Given the description of an element on the screen output the (x, y) to click on. 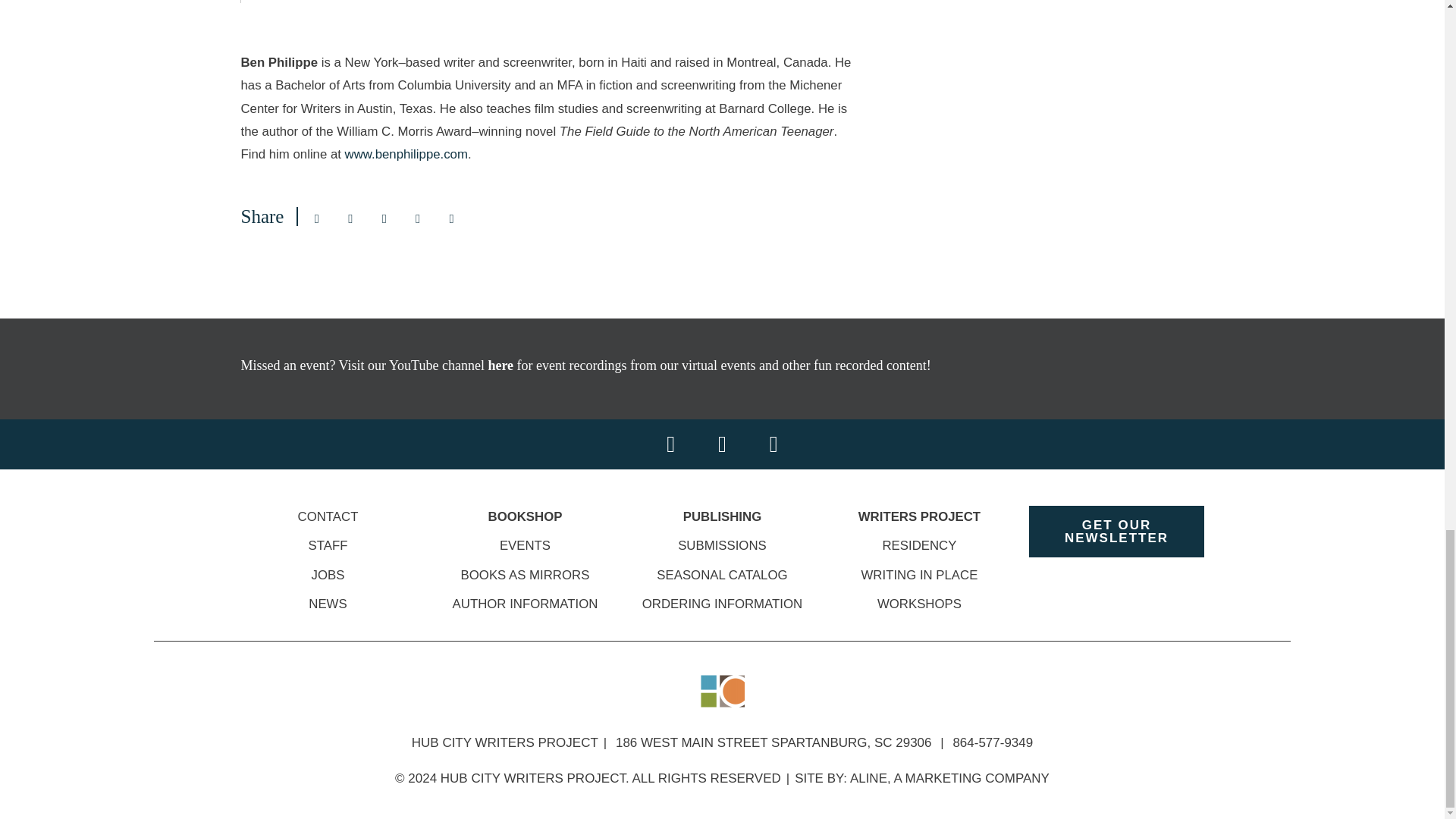
twitter (721, 444)
here (501, 365)
www.benphilippe.com (406, 154)
facebook (670, 444)
instagram (773, 444)
Share on email (316, 218)
BOOKS AS MIRRORS (525, 575)
Share on facebook (349, 218)
BOOKSHOP (524, 516)
Share on tumblr (451, 218)
AUTHOR INFORMATION (525, 603)
JOBS (328, 575)
CONTACT (328, 516)
Share on twitter (383, 218)
NEWS (327, 603)
